Given the description of an element on the screen output the (x, y) to click on. 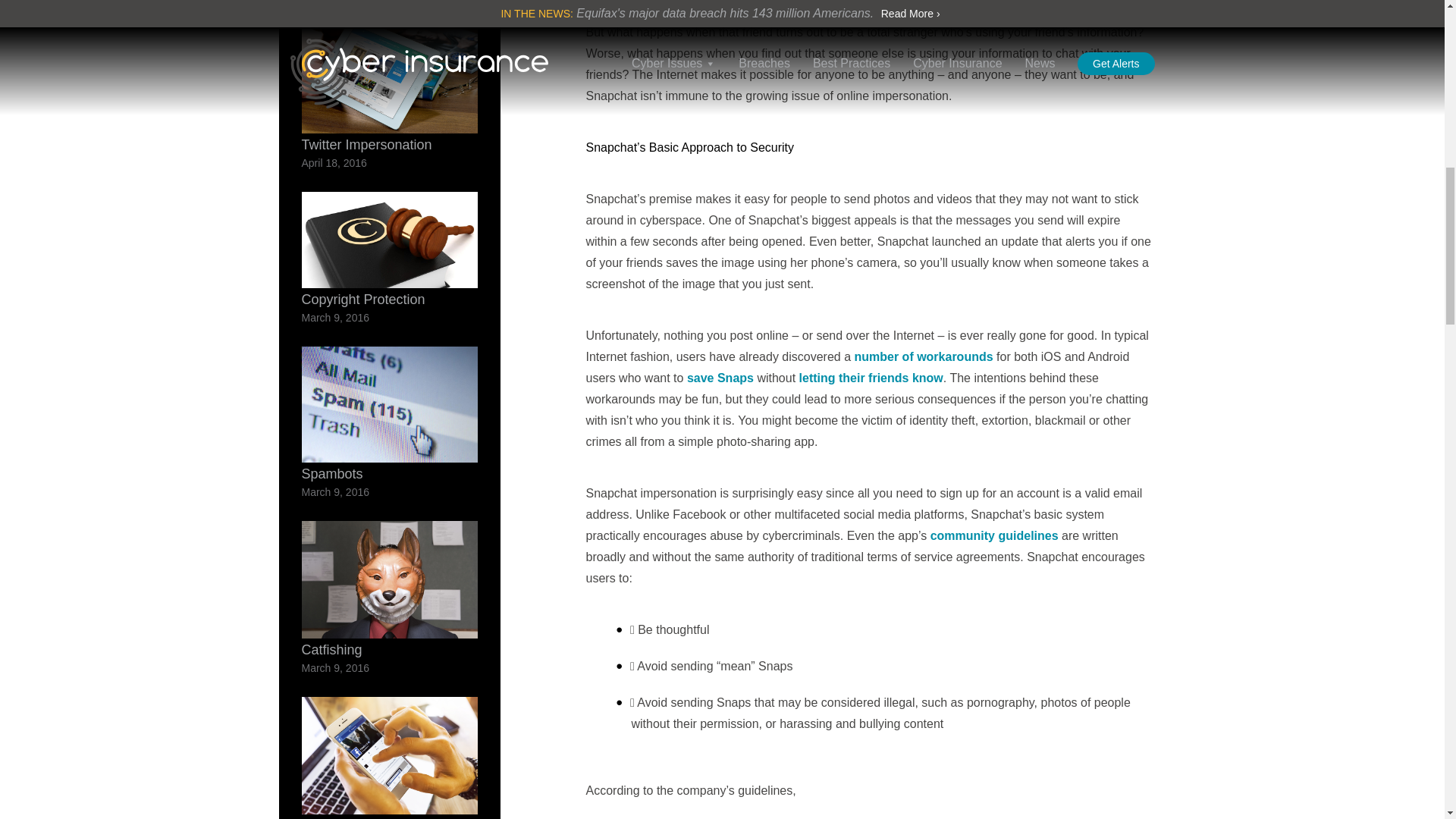
Spambots (390, 404)
Copyright Protection (390, 239)
Twitter Impersonation (390, 85)
Twitter Impersonation (390, 85)
Catfishing (390, 589)
Copyright Protection (390, 249)
Catfishing (390, 589)
Spambots (390, 414)
Facebook Hacking (390, 757)
Twitter Impersonation (390, 75)
Copyright Protection (390, 249)
Spambots (390, 414)
